Given the description of an element on the screen output the (x, y) to click on. 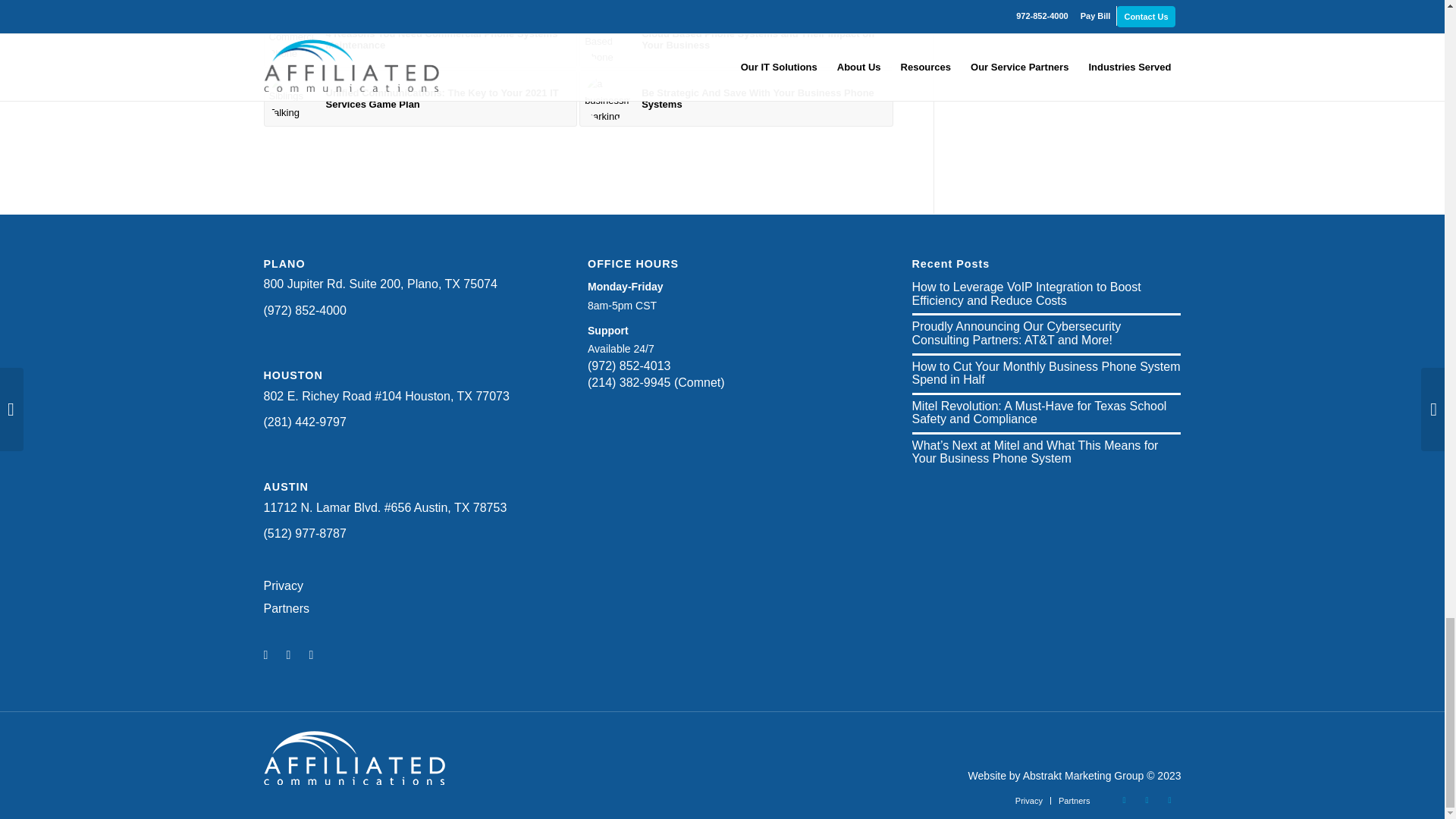
Benefits of Voice Collaboration for New Businesses (420, 4)
The Secret to Choosing the Right Business Phone System (736, 4)
telephone for contact with virtual one stop bus (607, 39)
4 Reasons You Need Commercial Phone Systems Maintenance (420, 39)
Cloud Based Phone Systems and Their Impact on Your Business (736, 39)
